Given the description of an element on the screen output the (x, y) to click on. 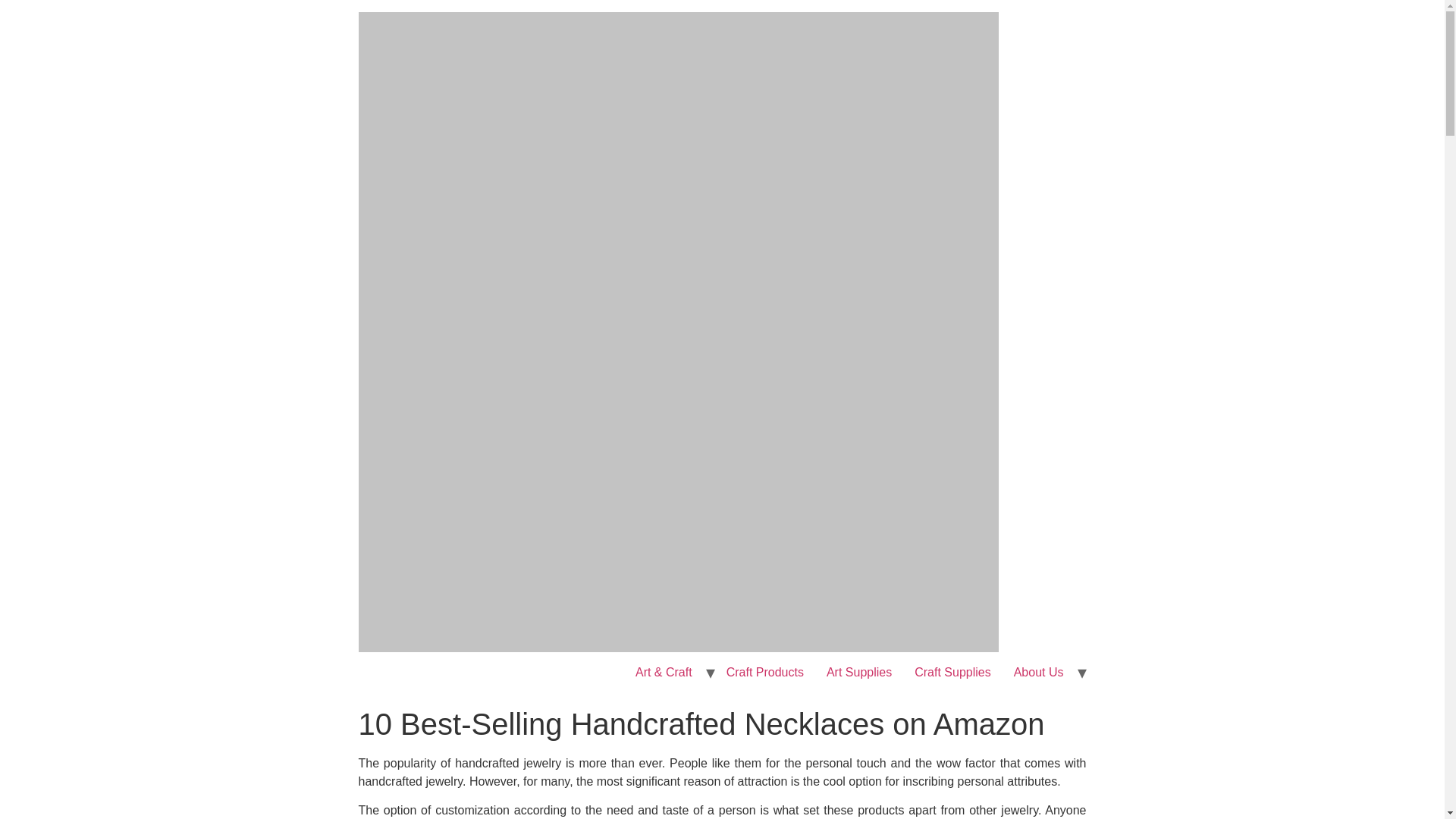
Craft Supplies (952, 672)
Craft Products (764, 672)
Art Supplies (858, 672)
About Us (1039, 672)
